Given the description of an element on the screen output the (x, y) to click on. 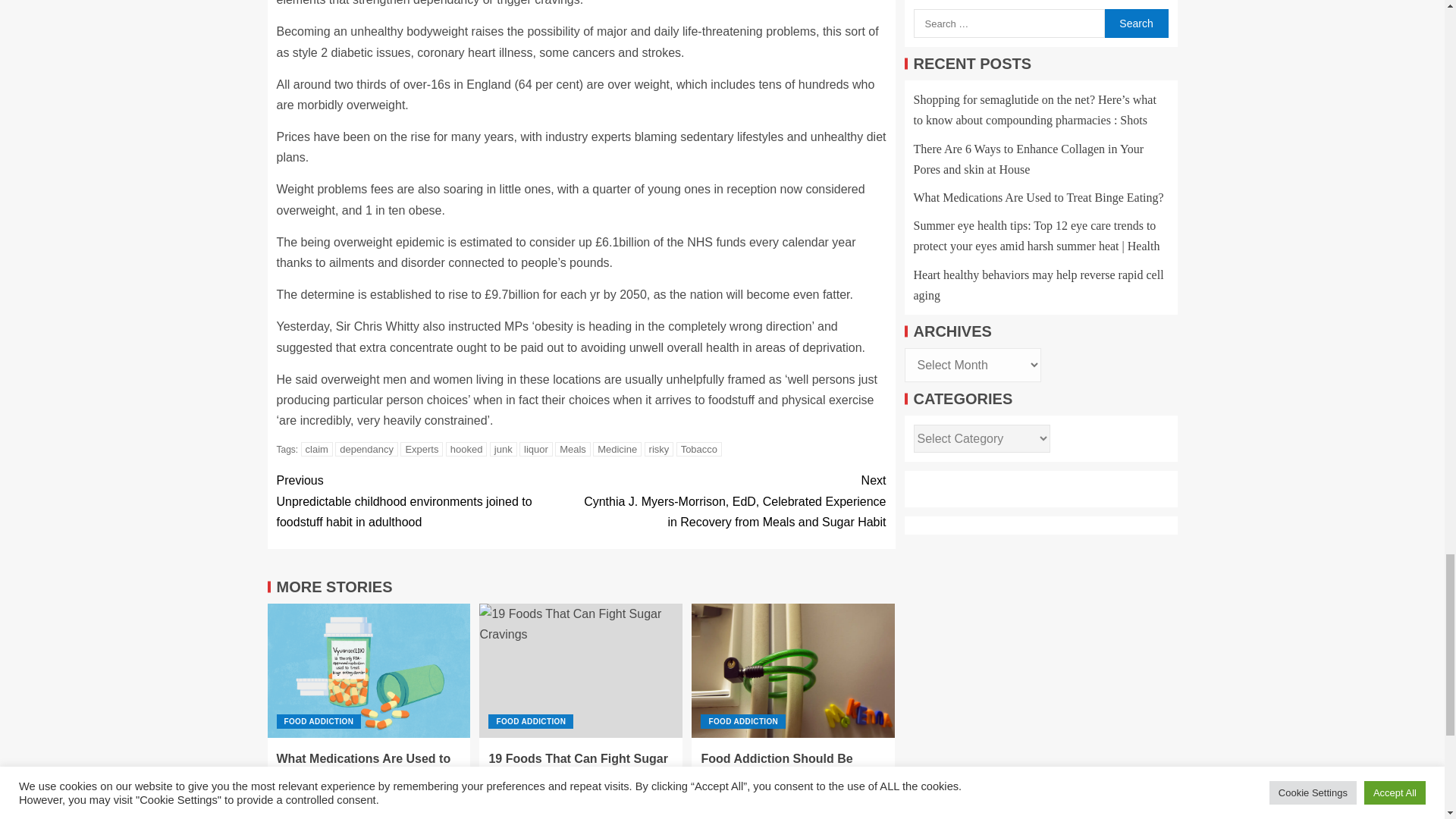
Tobacco (699, 449)
claim (317, 449)
dependancy (365, 449)
Carla Warner (380, 792)
Meals (572, 449)
Experts (421, 449)
Food Addiction Should Be Included in the DSM-6 (793, 670)
19 Foods That Can Fight Sugar Cravings (580, 670)
Medicine (617, 449)
